Given the description of an element on the screen output the (x, y) to click on. 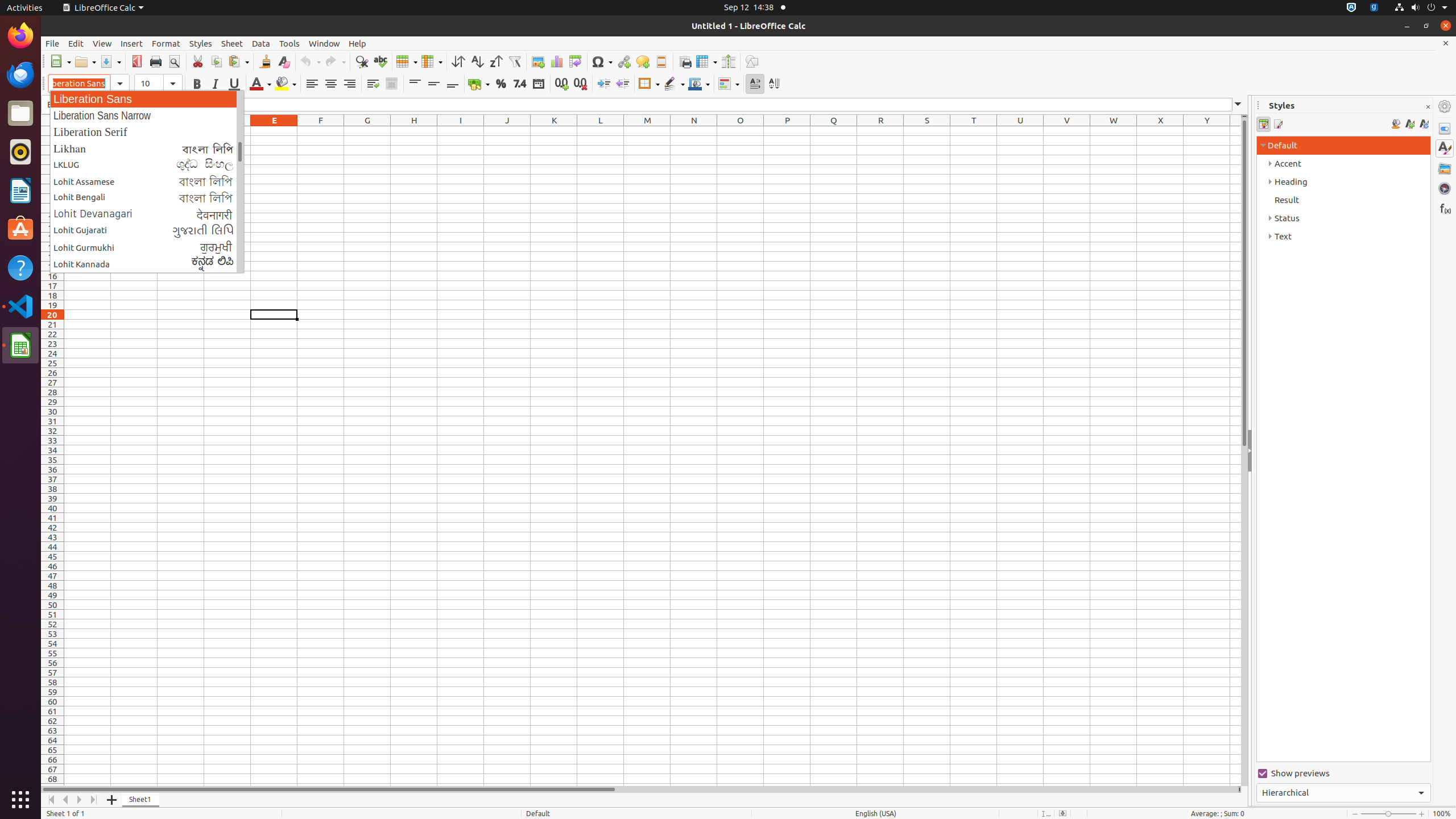
Paste Element type: push-button (237, 61)
New Element type: push-button (59, 61)
Show Applications Element type: toggle-button (20, 799)
Move To End Element type: push-button (94, 799)
Wrap Text Element type: push-button (372, 83)
